Given the description of an element on the screen output the (x, y) to click on. 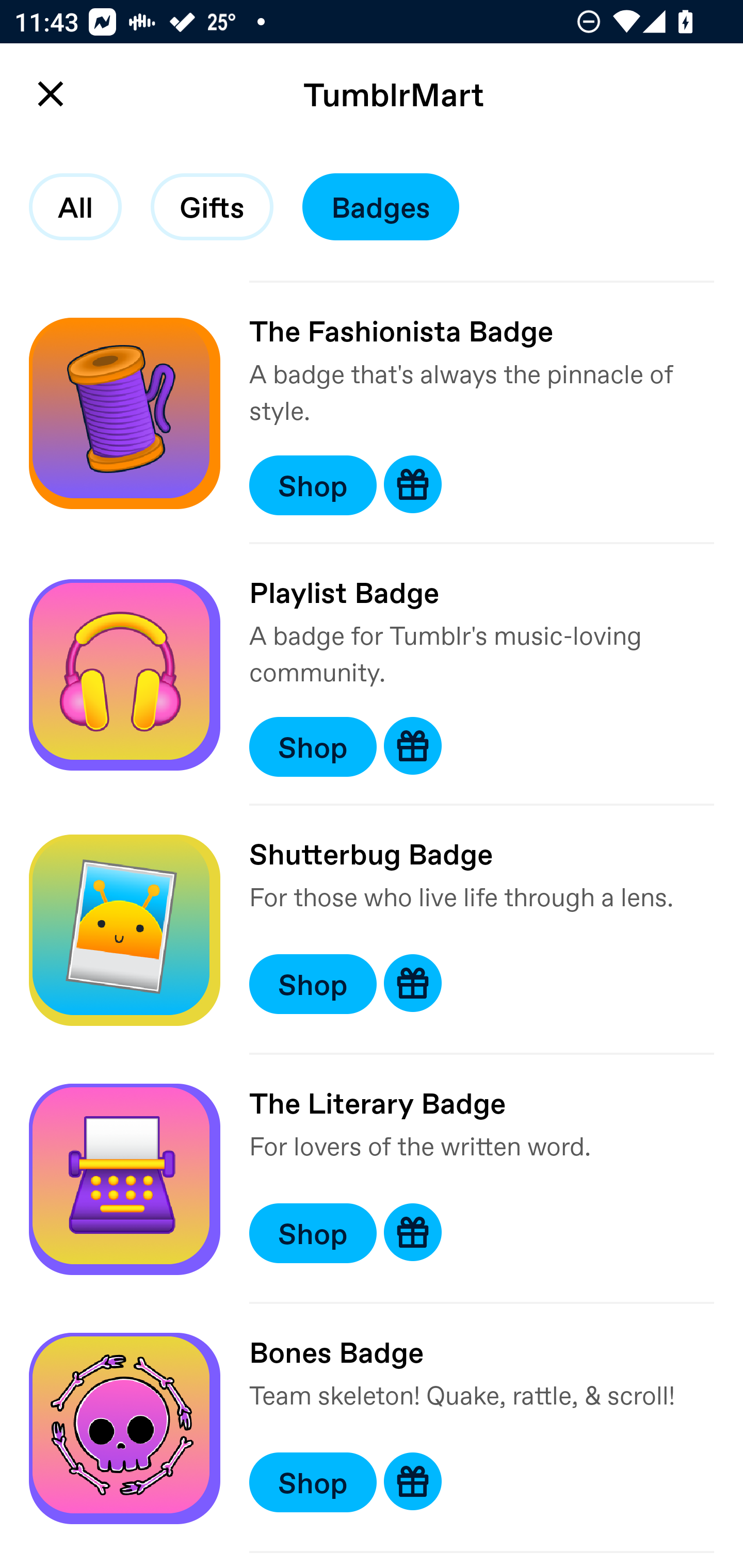
All (74, 206)
Gifts (211, 206)
Badges (380, 206)
Shop (312, 484)
Shop (312, 746)
Shop (312, 984)
Shop (312, 1232)
Shop (312, 1481)
